Given the description of an element on the screen output the (x, y) to click on. 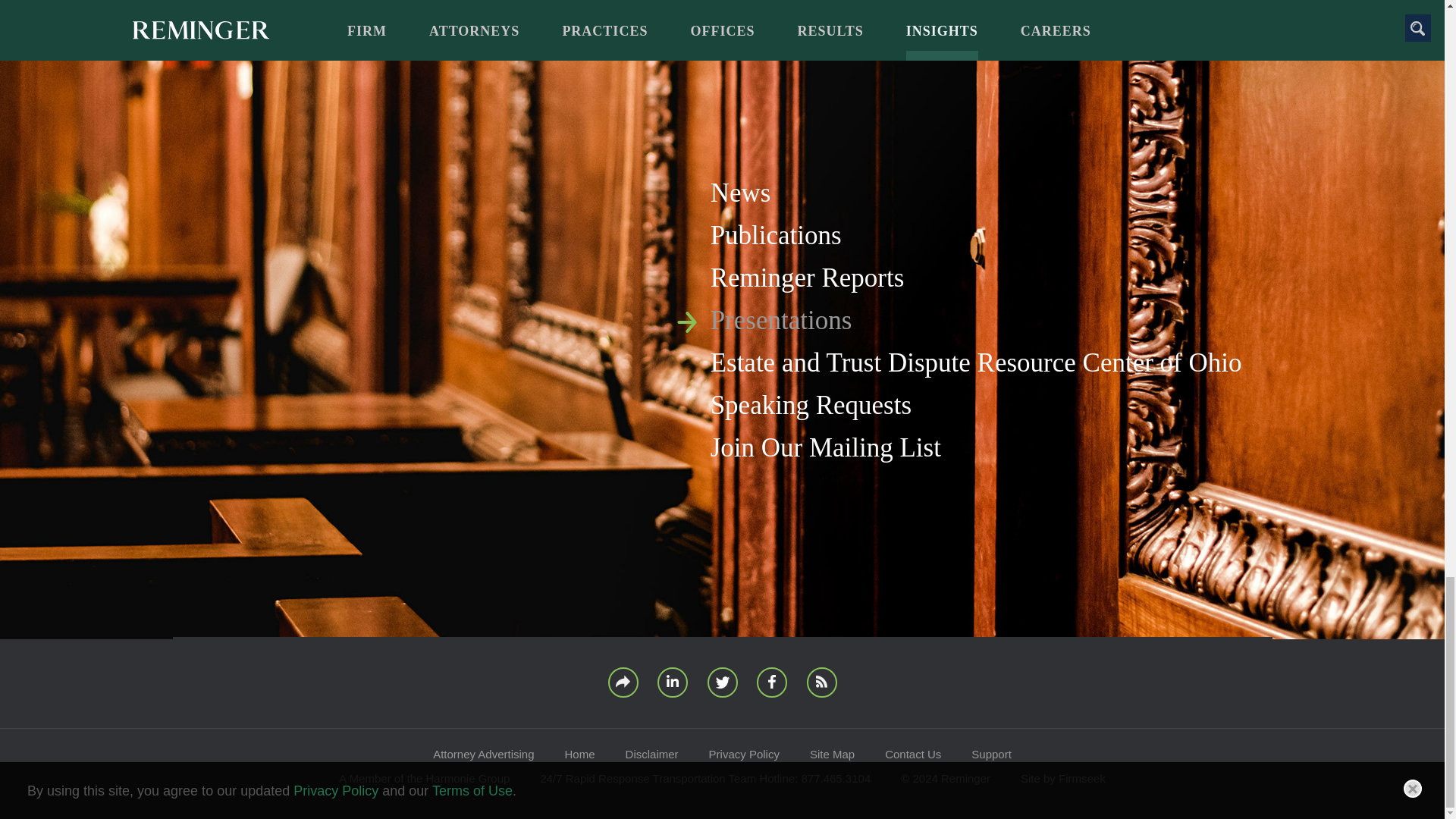
Estate and Trust Dispute Resource Center of Ohio (975, 362)
Facebook (772, 682)
Reminger Reports (807, 277)
Speaking Requests (810, 405)
Presentations (780, 319)
Join Our Mailing List (825, 447)
Publications (775, 235)
News (740, 193)
LinkedIn (672, 682)
Twitter (721, 682)
Share (623, 682)
